Given the description of an element on the screen output the (x, y) to click on. 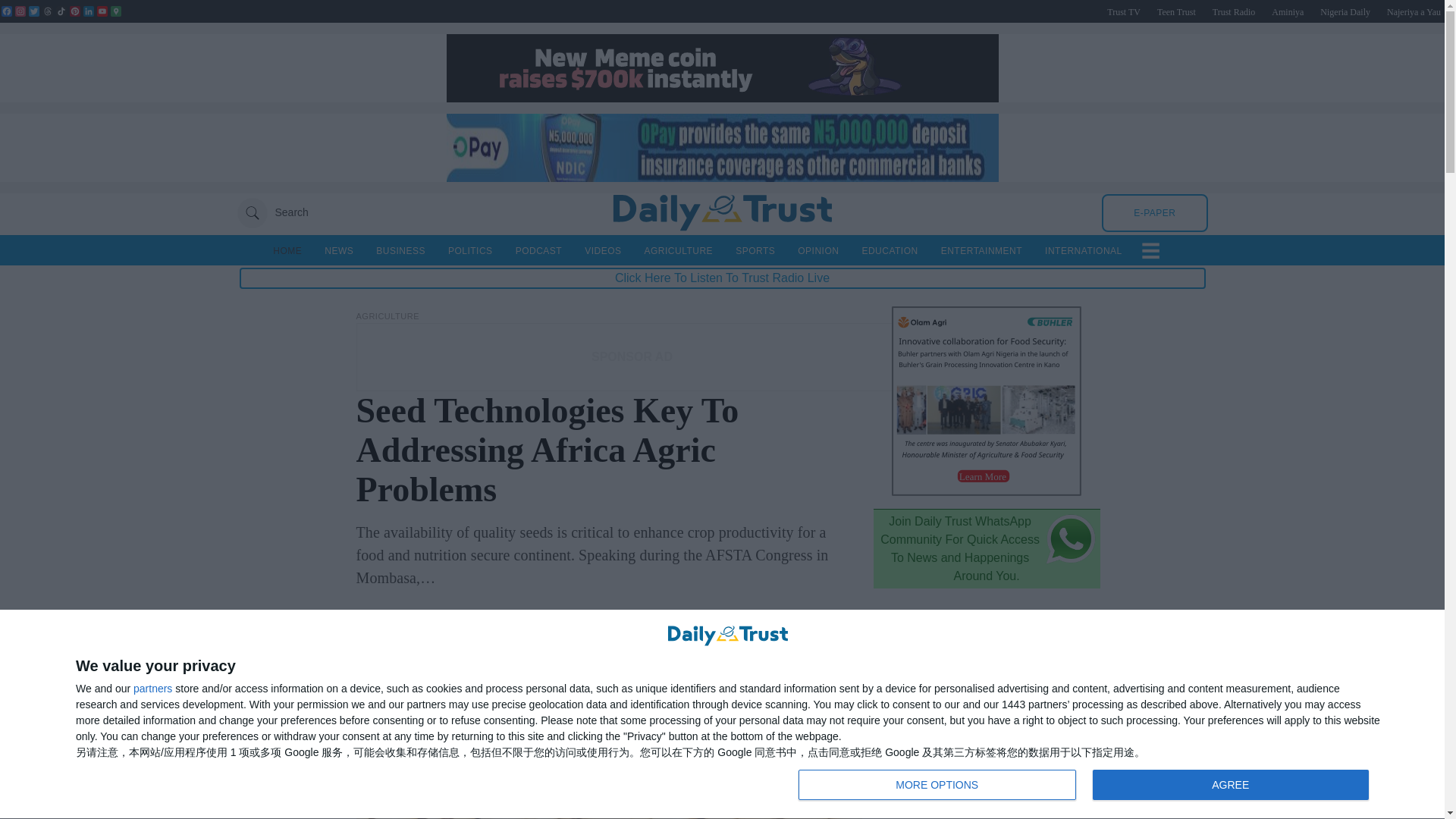
YouTube (102, 10)
Aminiya Online (1287, 11)
Search (271, 212)
Threads (1086, 785)
OPAY Digital Services (47, 10)
Teen Trust (721, 177)
partners (1176, 11)
Saurari Shirye Shiryenmu (152, 688)
E-Paper Subscription (1414, 11)
Najeriya a Yau (1154, 212)
Olam Agri (1414, 11)
Twitter (986, 491)
Instagram (33, 10)
Pinterest (20, 10)
